Given the description of an element on the screen output the (x, y) to click on. 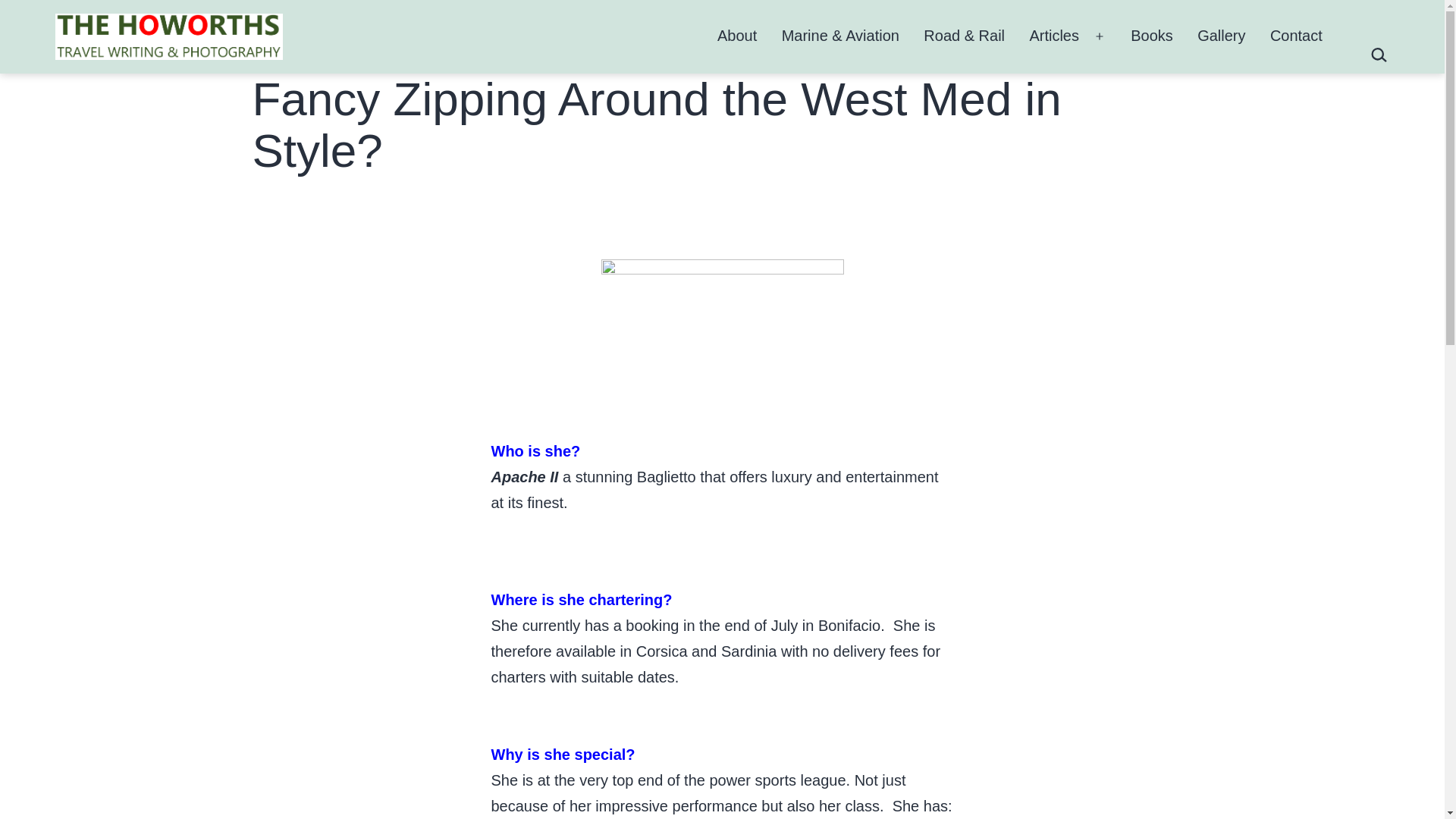
Books (1151, 36)
Articles (1054, 36)
Gallery (1221, 36)
Contact (1296, 36)
About (737, 36)
